Given the description of an element on the screen output the (x, y) to click on. 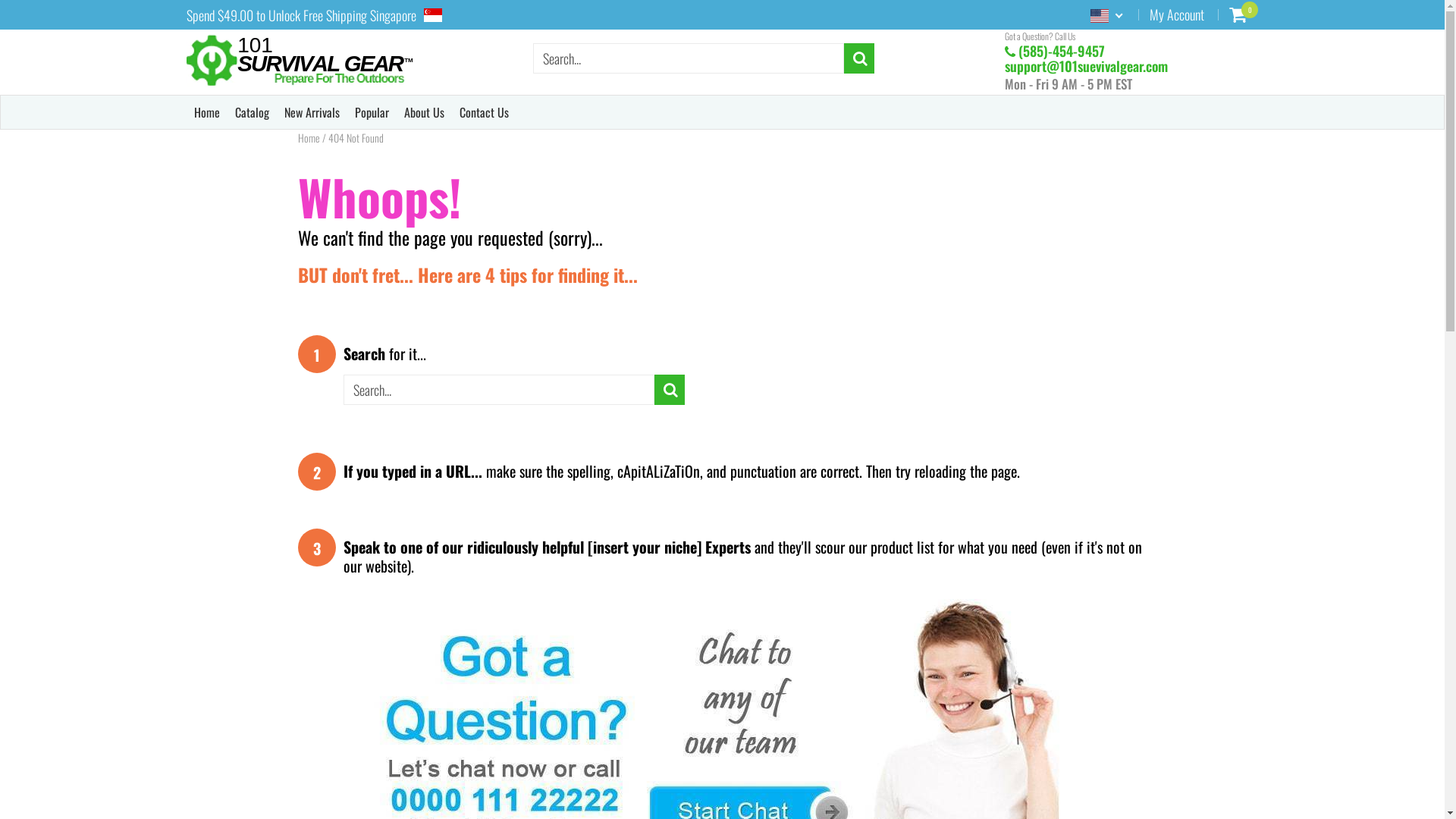
Spend $49.00 to Unlock Free Shipping Element type: text (276, 15)
New Arrivals Element type: text (310, 111)
My Account Element type: text (1176, 14)
Home Element type: text (308, 137)
0 Element type: text (1237, 14)
(585)-454-9457 support@101suevivalgear.com Element type: text (1085, 57)
Catalog Element type: text (252, 111)
About Us Element type: text (423, 111)
Contact Us Element type: text (483, 111)
Home Element type: text (206, 111)
Popular Element type: text (371, 111)
